Given the description of an element on the screen output the (x, y) to click on. 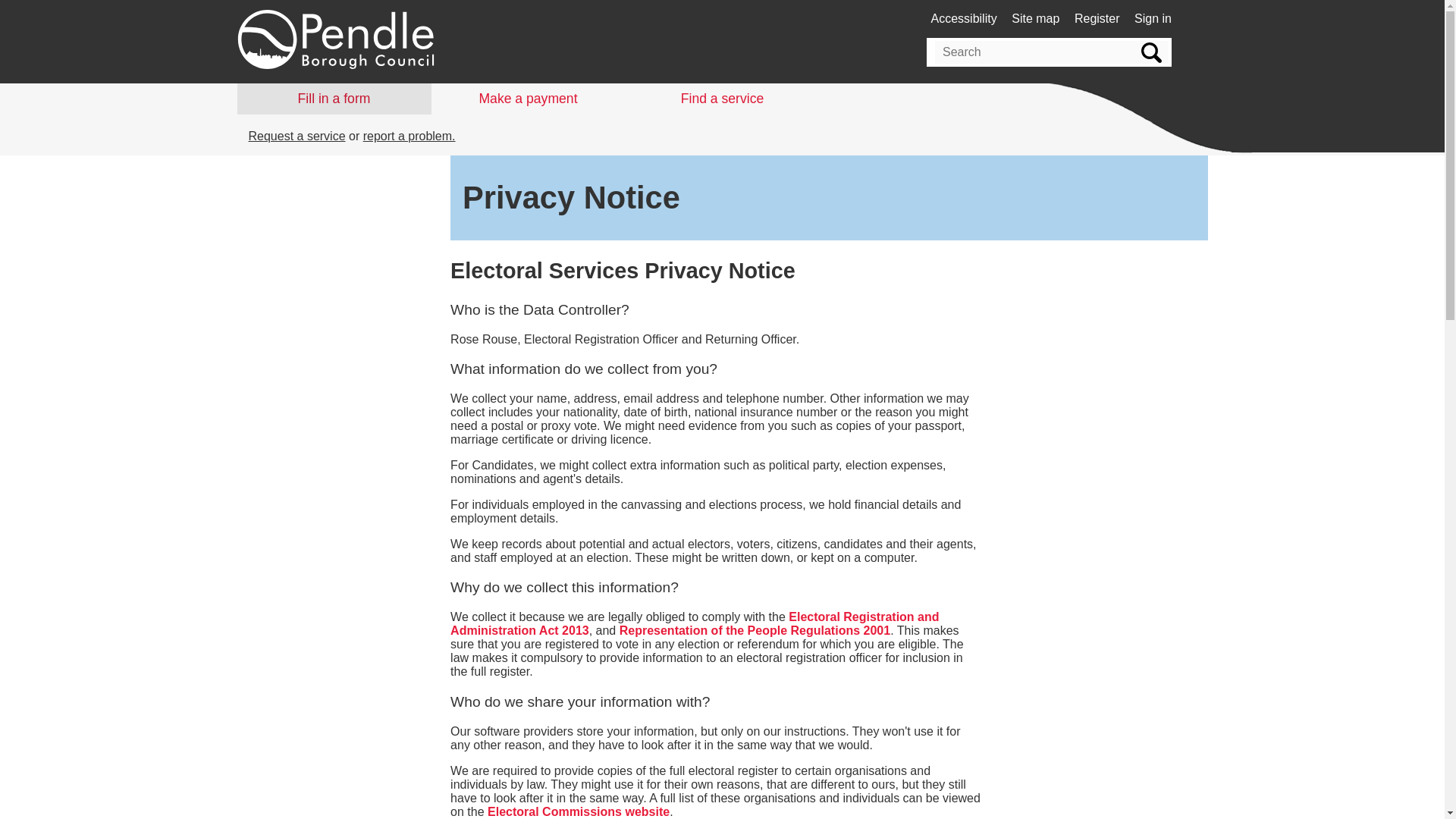
Go (1149, 51)
report a problem. (408, 135)
Site map (1035, 18)
Make a payment (527, 98)
Request a service (297, 135)
Sign in (1153, 18)
Register (1096, 18)
Electoral Registration and Administration Act 2013 (694, 623)
Electoral Commissions website (578, 811)
Representation of the People Regulations 2001 (754, 630)
